Given the description of an element on the screen output the (x, y) to click on. 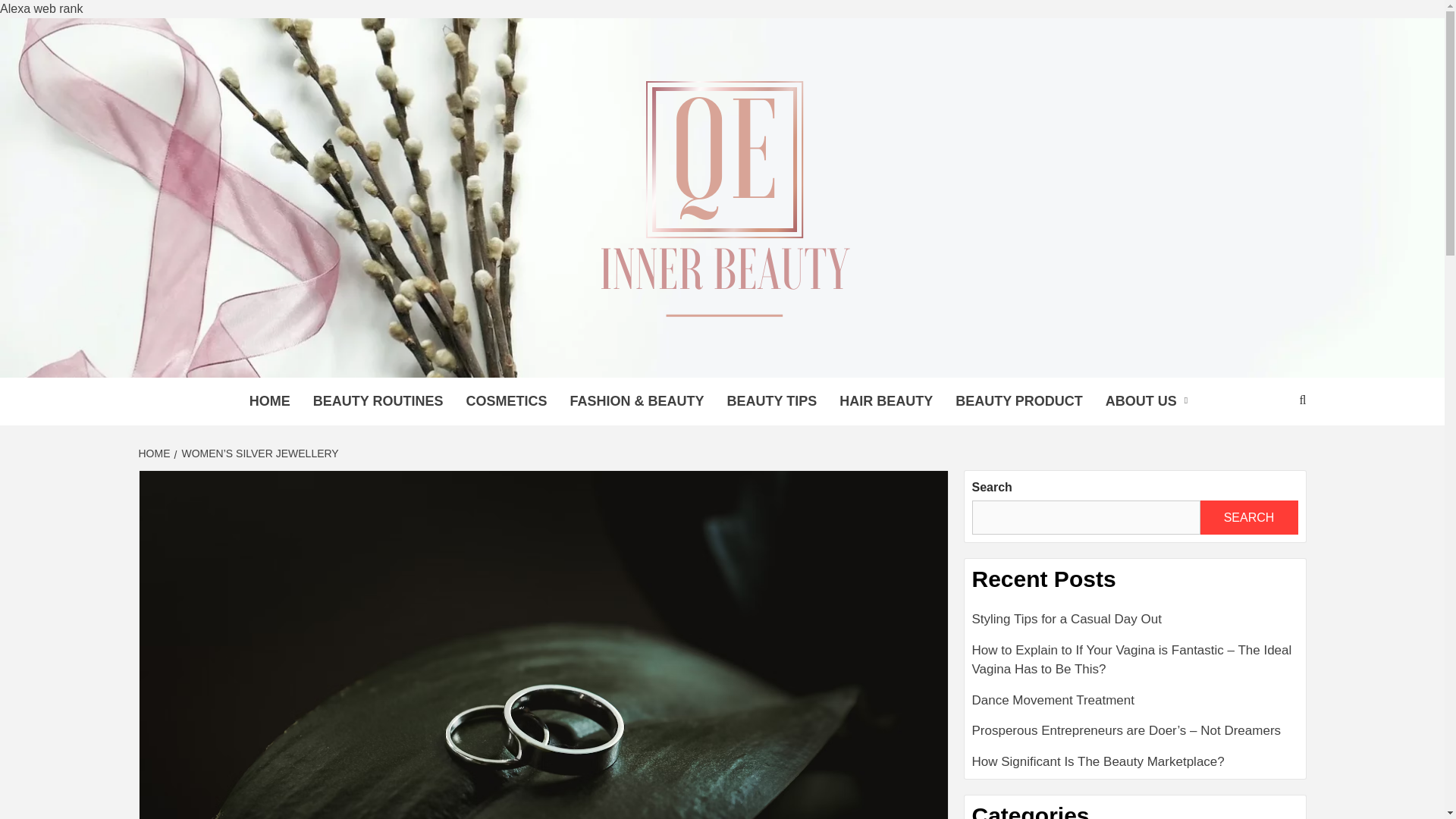
Styling Tips for a Casual Day Out (1135, 624)
Dance Movement Treatment (1135, 706)
BEAUTY PRODUCT (1018, 401)
SEARCH (1248, 517)
Alexa web rank (41, 8)
BEAUTY ROUTINES (377, 401)
HAIR BEAUTY (885, 401)
How Significant Is The Beauty Marketplace? (1135, 762)
COSMETICS (505, 401)
BEAUTY TIPS (771, 401)
HOME (155, 453)
QATARIT EXPERTS (491, 358)
ABOUT US (1150, 401)
HOME (269, 401)
